Given the description of an element on the screen output the (x, y) to click on. 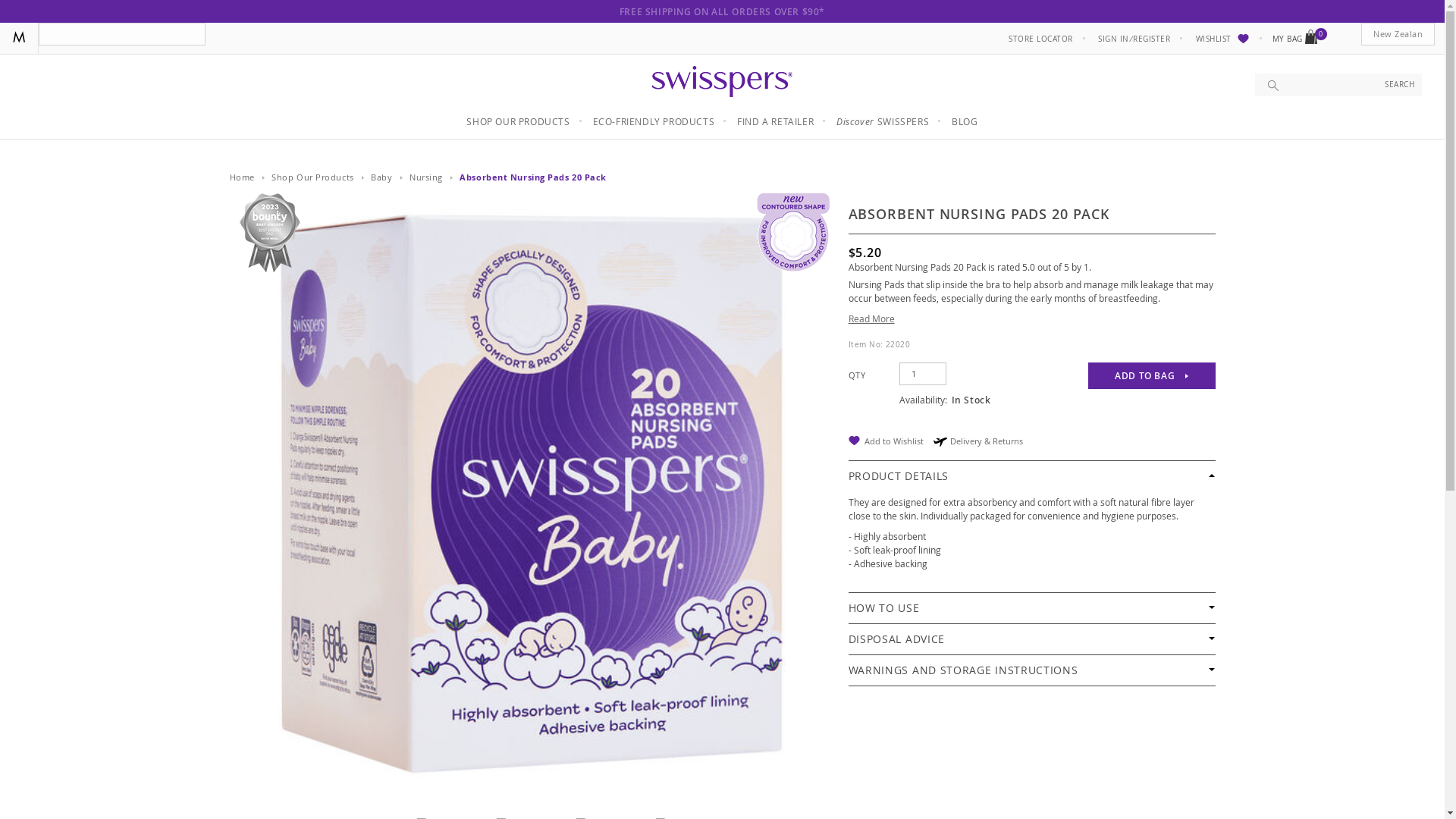
SHOP OUR PRODUCTS (517, 120)
1 (922, 373)
SIGN IN (1113, 39)
ECO-FRIENDLY PRODUCTS (653, 120)
FIND A RETAILER (774, 120)
REGISTER (1151, 39)
STORE LOCATOR (1041, 39)
WISHLIST (1222, 38)
McPherson's  (18, 37)
SEARCH (1399, 84)
